Given the description of an element on the screen output the (x, y) to click on. 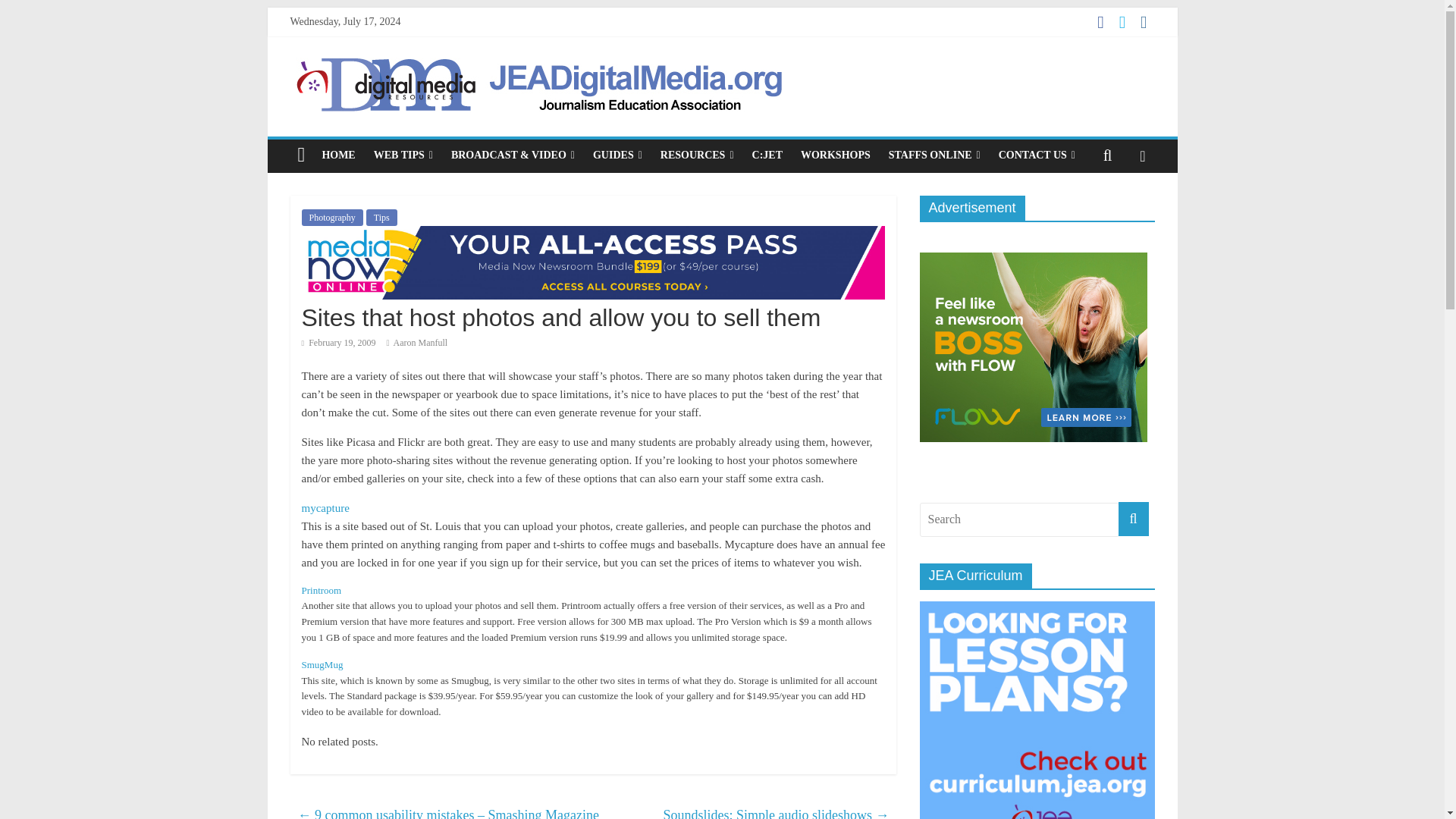
WEB TIPS (403, 155)
View a random post (1142, 155)
2:05 pm (338, 342)
JEADigitalMedia.org (301, 155)
HOME (338, 155)
Aaron Manfull (420, 342)
RESOURCES (696, 155)
GUIDES (616, 155)
